Given the description of an element on the screen output the (x, y) to click on. 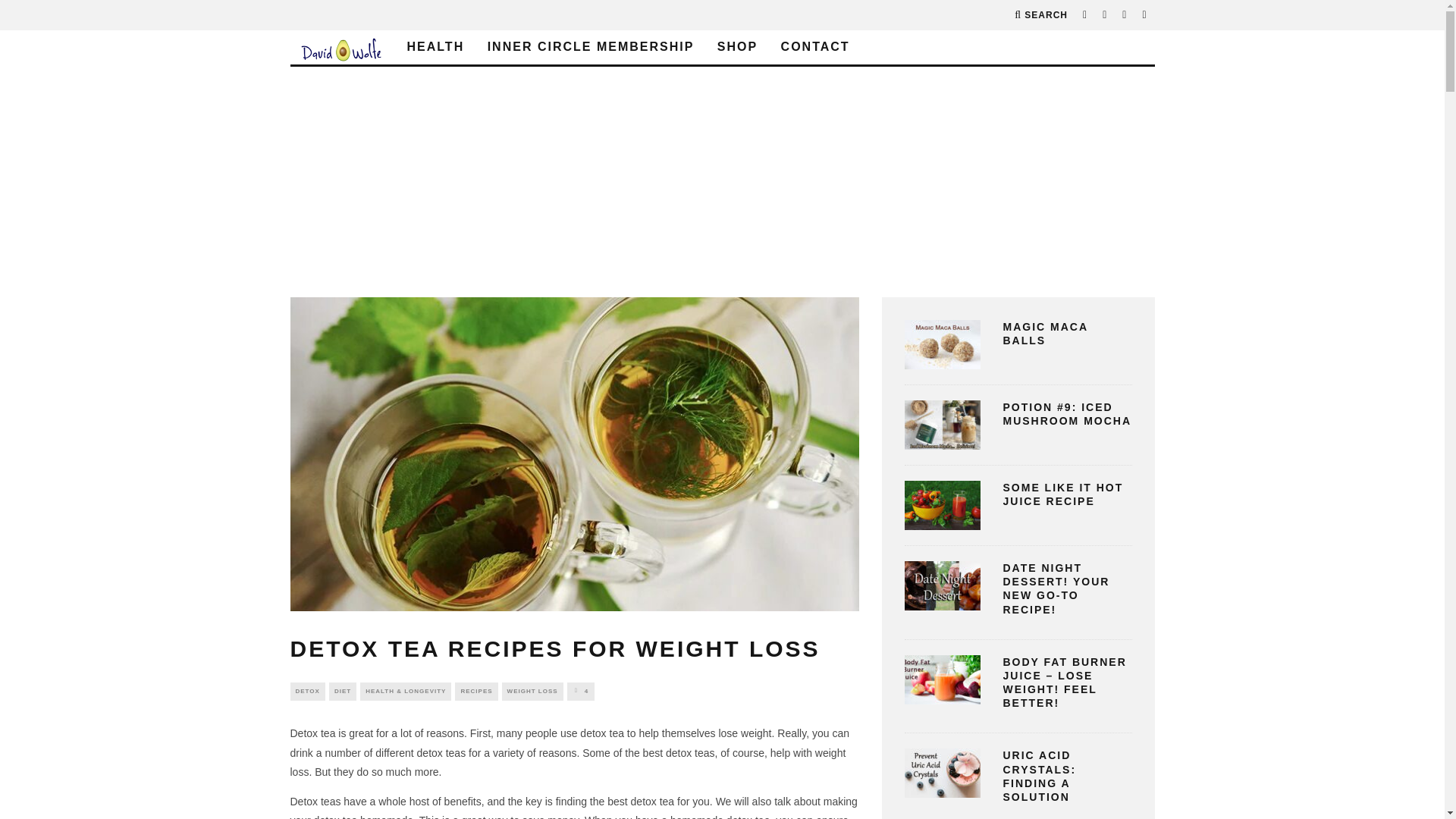
View all posts in Diet (342, 691)
HEALTH (435, 47)
Log In (721, 409)
View all posts in Weight Loss (532, 691)
Search (1040, 15)
View all posts in Detox (306, 691)
INNER CIRCLE MEMBERSHIP (591, 47)
View all posts in Recipes (475, 691)
SEARCH (1040, 15)
